Given the description of an element on the screen output the (x, y) to click on. 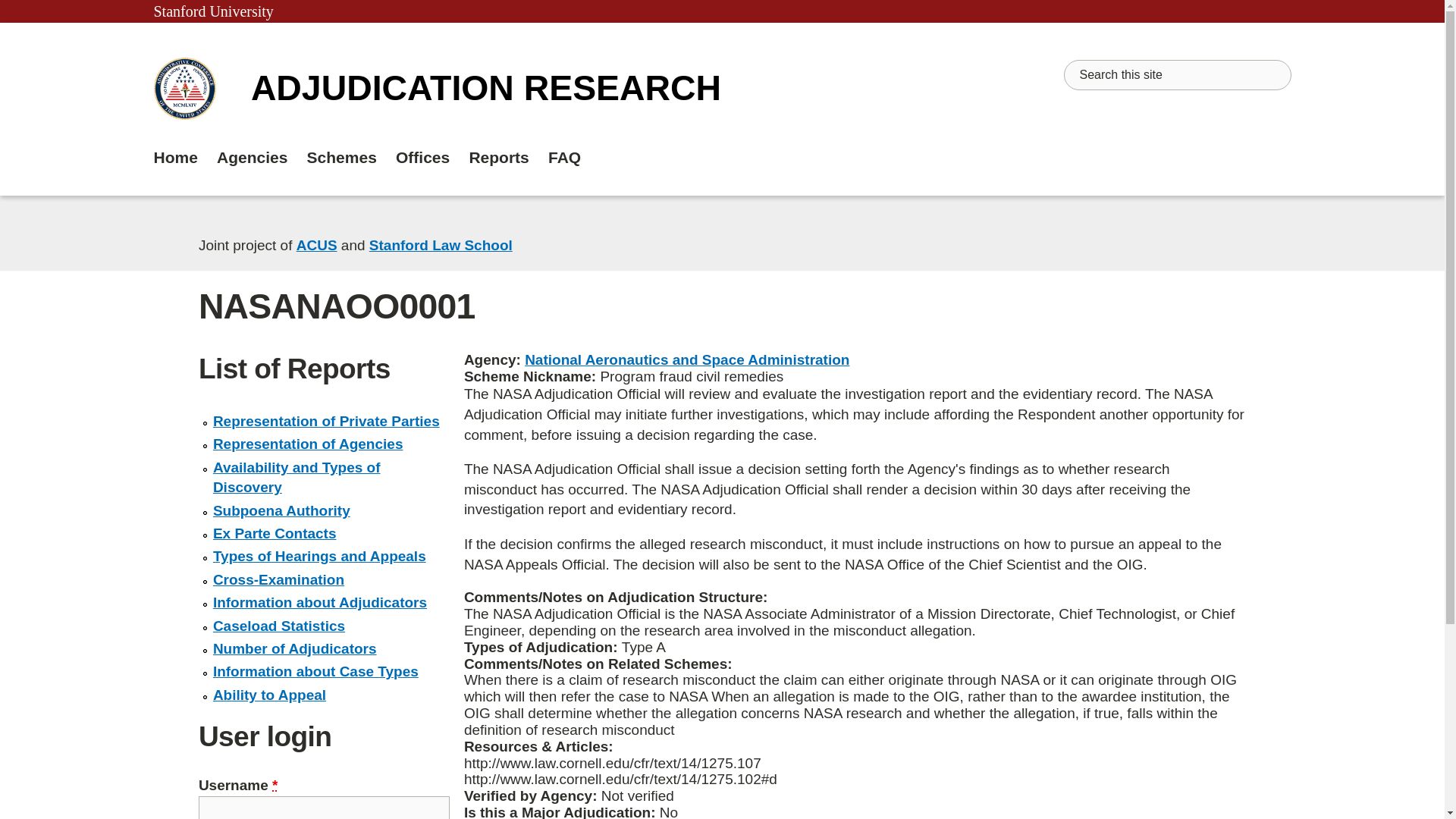
Types of Hearings and Appeals (319, 555)
National Aeronautics and Space Administration (686, 359)
Information about Adjudicators (319, 602)
Offices (422, 157)
Representation of Private Parties (325, 421)
Ex Parte Contacts (274, 533)
Stanford Law School (440, 245)
ACUS (317, 245)
Representation of Agencies (307, 443)
